Given the description of an element on the screen output the (x, y) to click on. 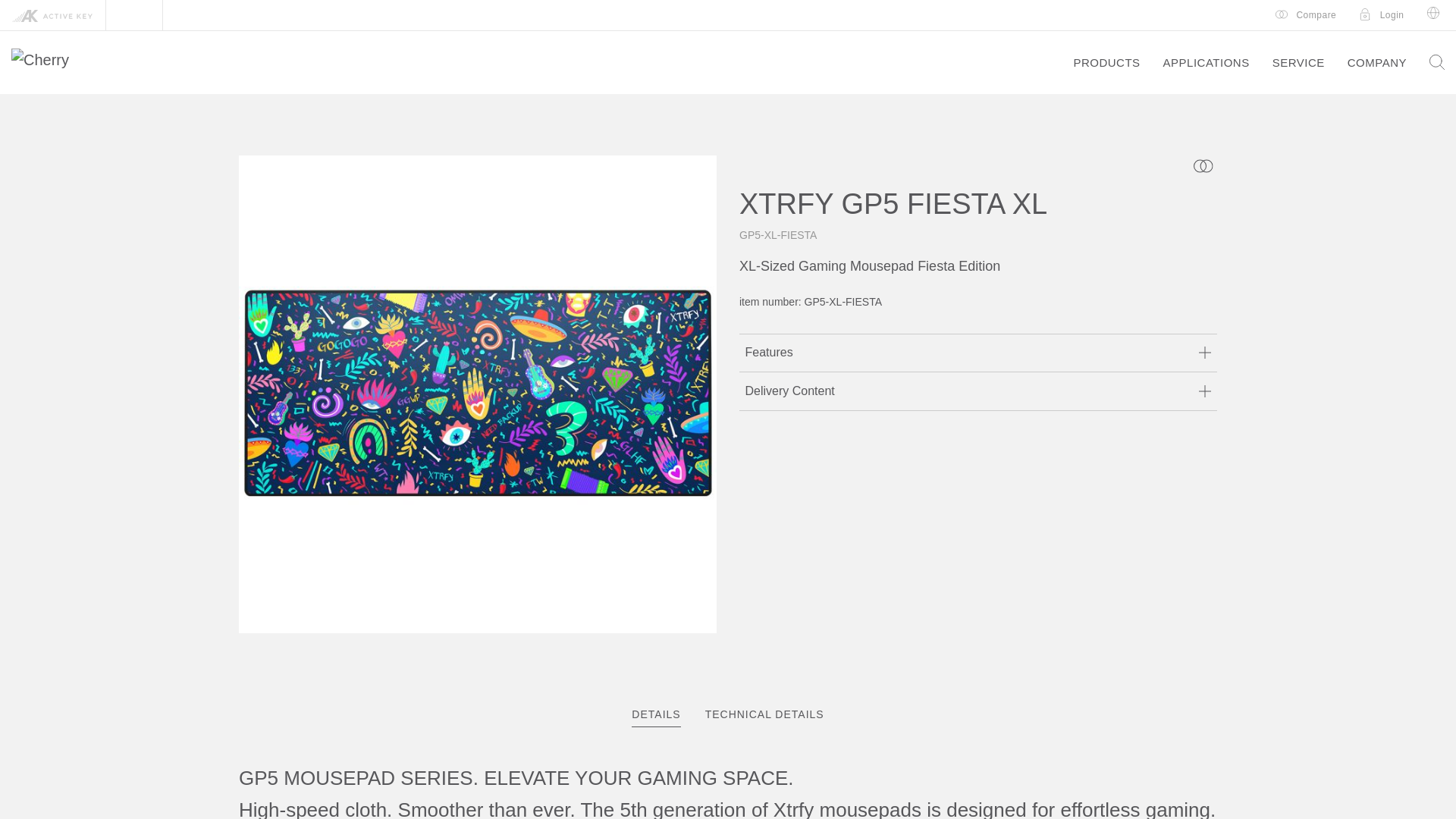
Login (1381, 15)
Compare (727, 714)
APPLICATIONS (1305, 15)
PRODUCTS (1205, 62)
Active Key (727, 714)
Active Key (1106, 62)
